Given the description of an element on the screen output the (x, y) to click on. 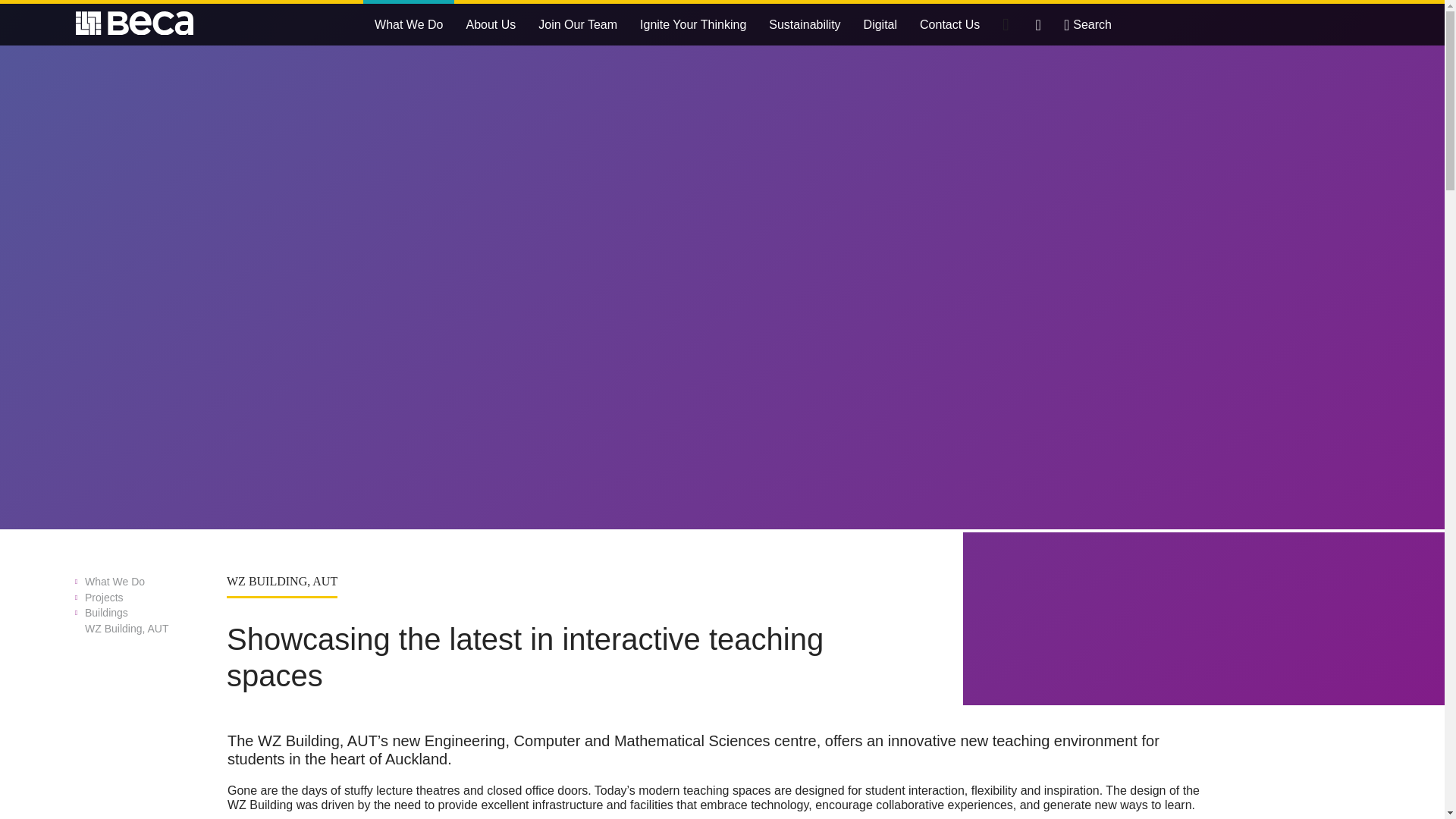
About Us (490, 24)
Buildings (143, 612)
What We Do (408, 24)
What We Do (143, 581)
Join Our Team (577, 24)
Projects (143, 597)
Sustainability (804, 24)
Contact Us (949, 24)
Digital (879, 24)
WZ Building, AUT (143, 628)
